Given the description of an element on the screen output the (x, y) to click on. 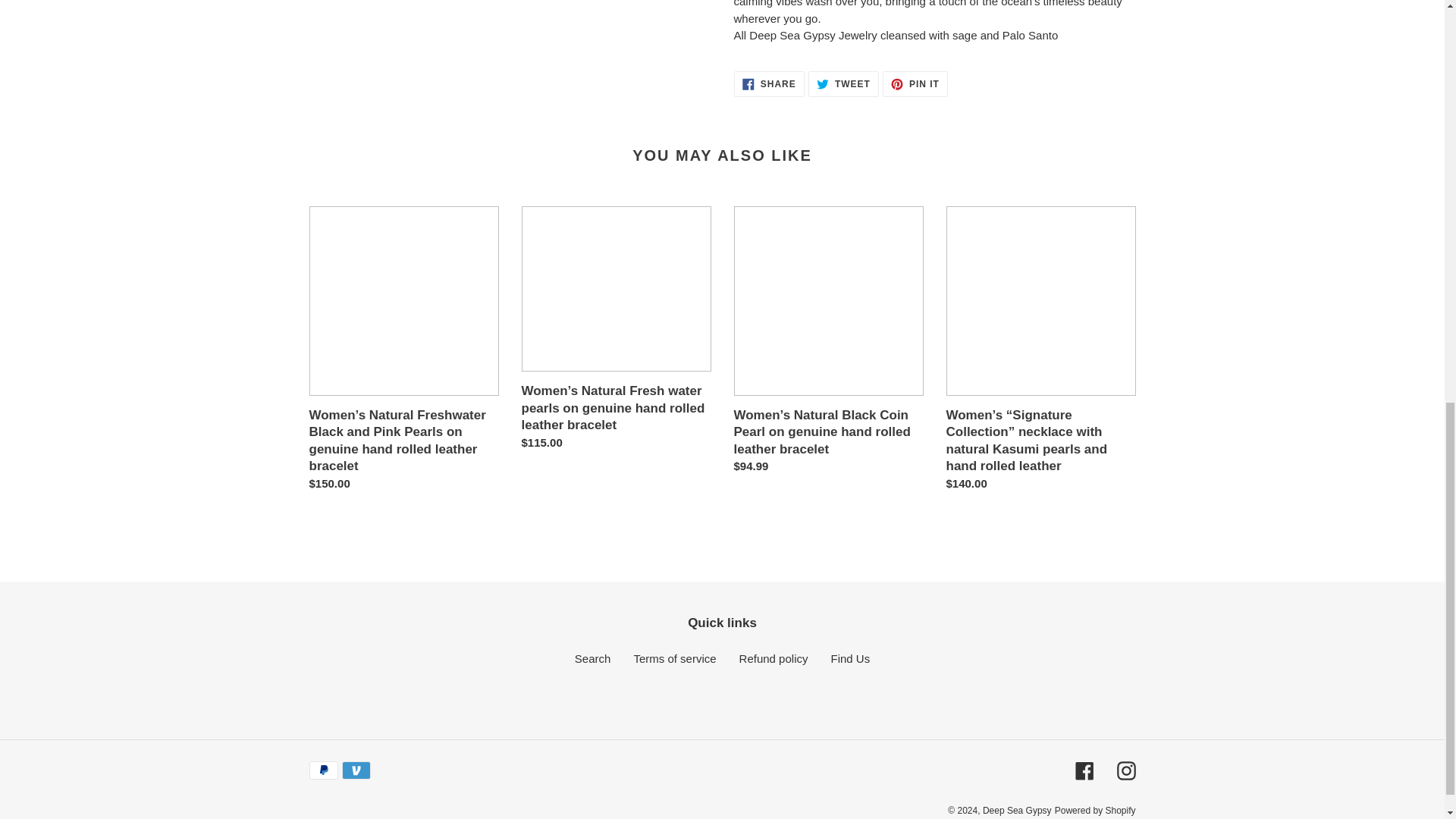
Instagram (1125, 770)
Facebook (1084, 770)
Terms of service (674, 658)
Powered by Shopify (1094, 810)
Refund policy (769, 84)
Find Us (773, 658)
Search (849, 658)
Deep Sea Gypsy (843, 84)
